Given the description of an element on the screen output the (x, y) to click on. 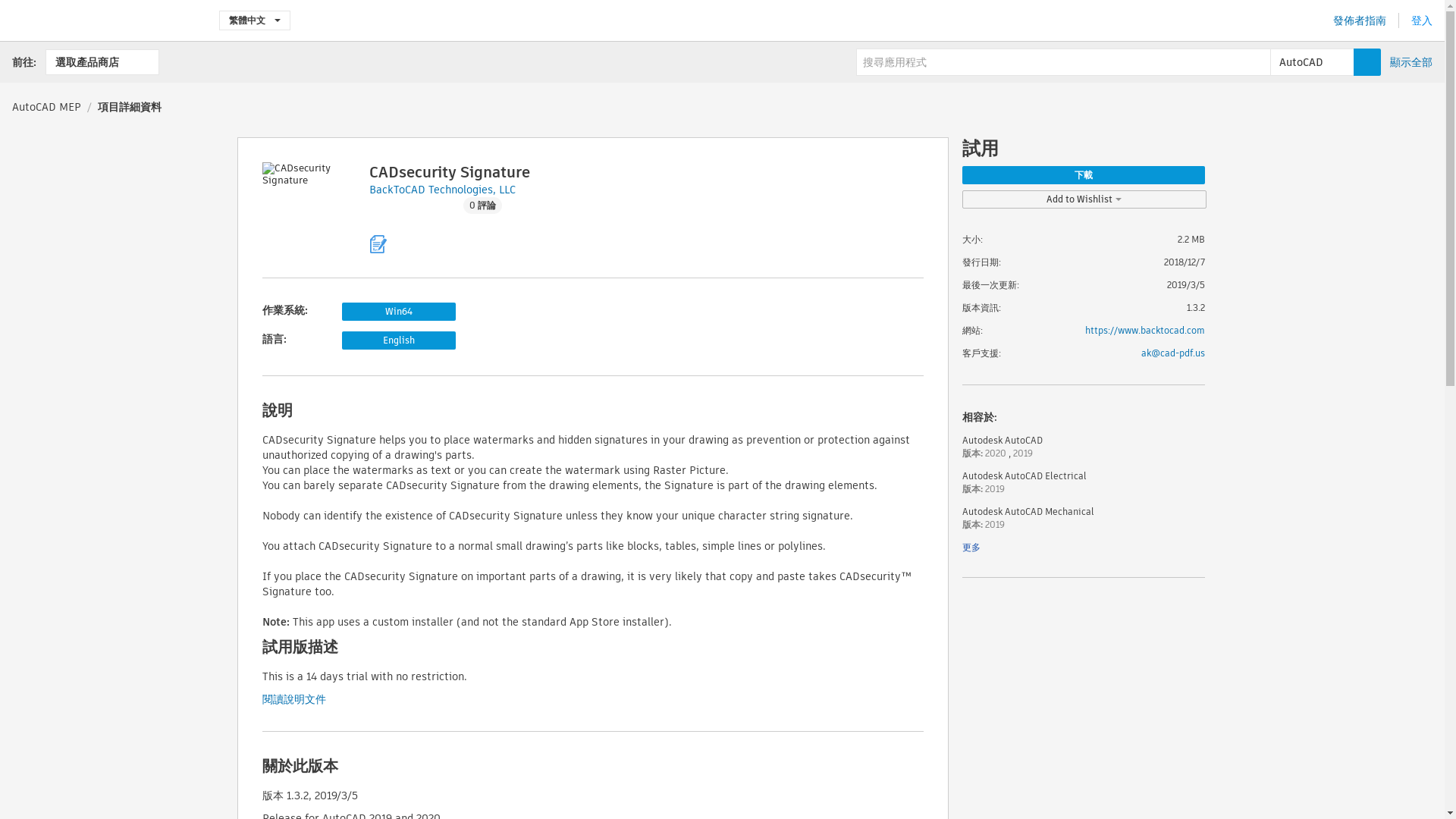
Autodesk App Store (103, 20)
CADsecurity Signature (449, 171)
